Given the description of an element on the screen output the (x, y) to click on. 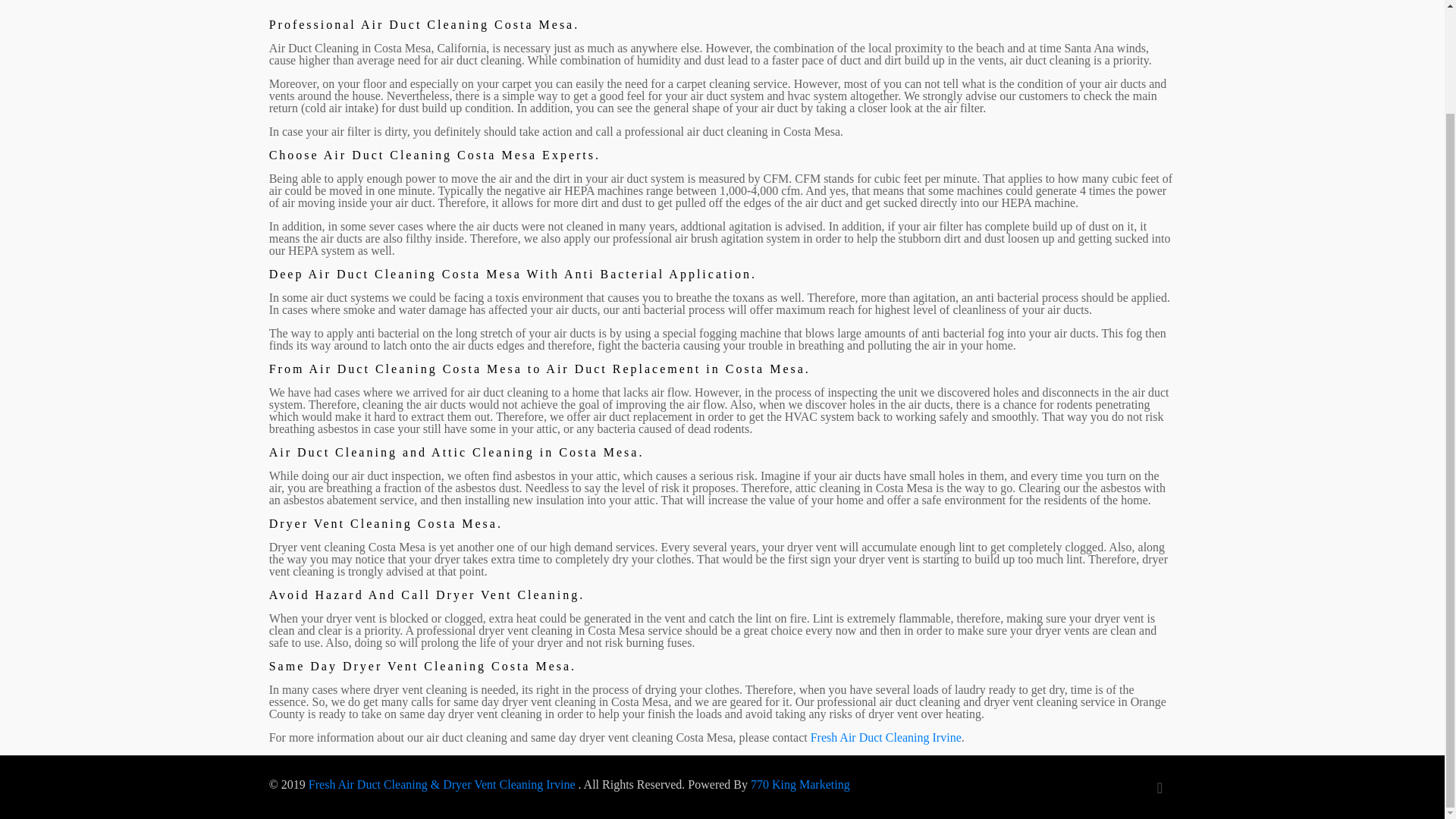
770 King Marketing (800, 784)
Fresh Air Duct Cleaning Irvine (885, 737)
